Given the description of an element on the screen output the (x, y) to click on. 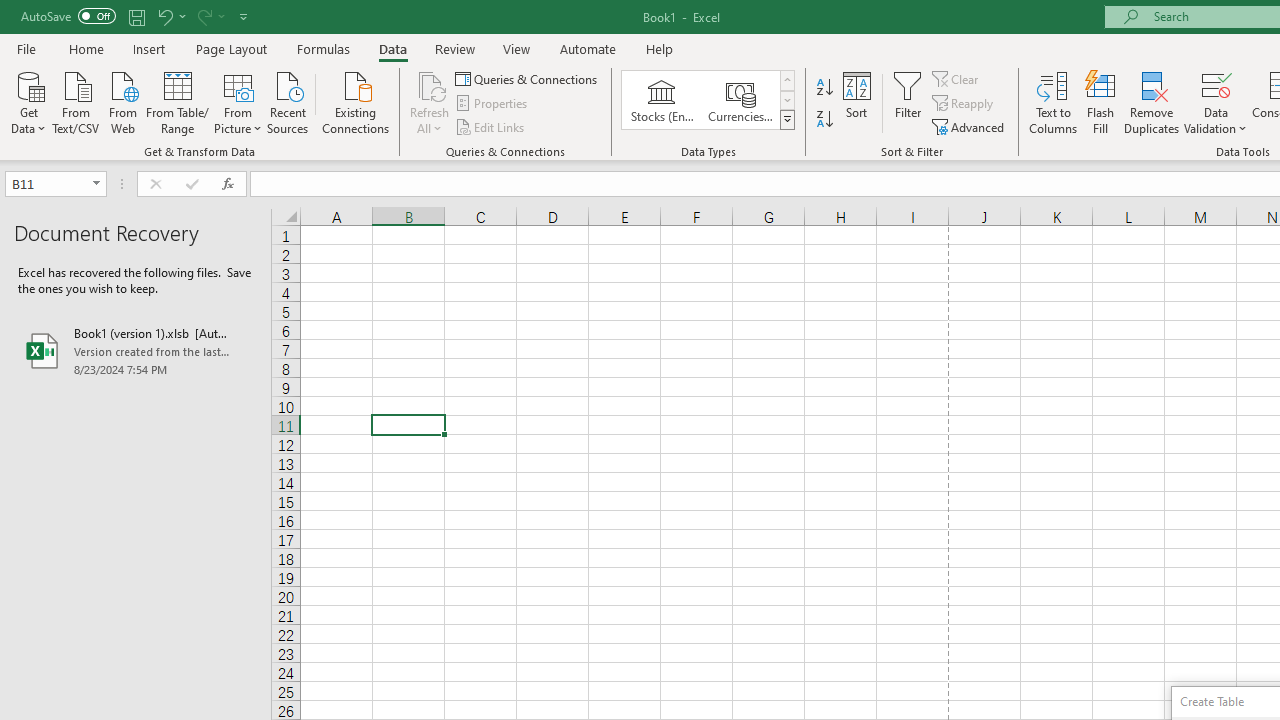
From Picture (238, 101)
From Table/Range (177, 101)
Existing Connections (355, 101)
Sort Z to A (824, 119)
Sort A to Z (824, 87)
